Given the description of an element on the screen output the (x, y) to click on. 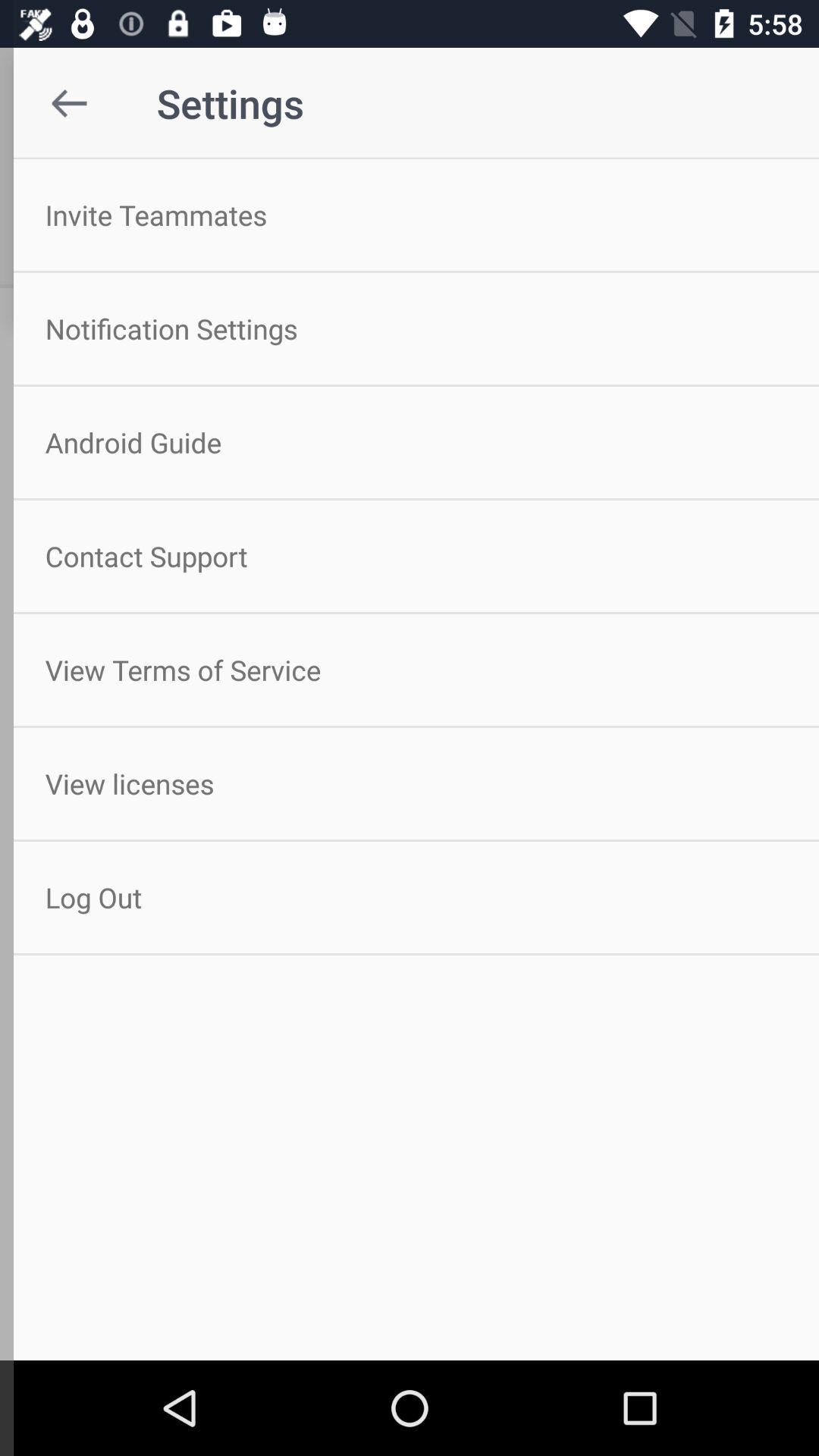
open the item above invite teammates item (55, 103)
